Given the description of an element on the screen output the (x, y) to click on. 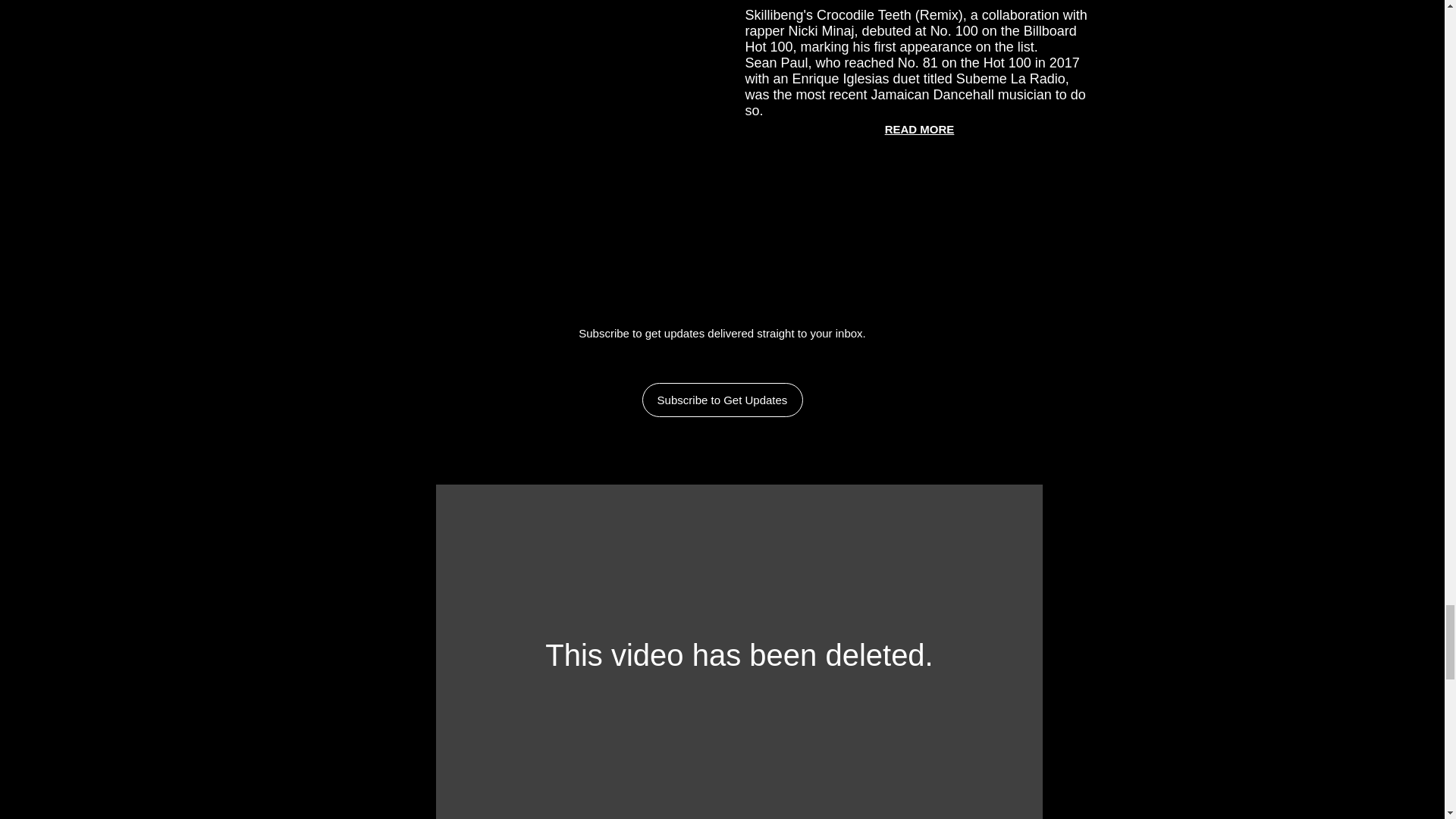
READ MORE (920, 128)
Subscribe to Get Updates (722, 399)
